Given the description of an element on the screen output the (x, y) to click on. 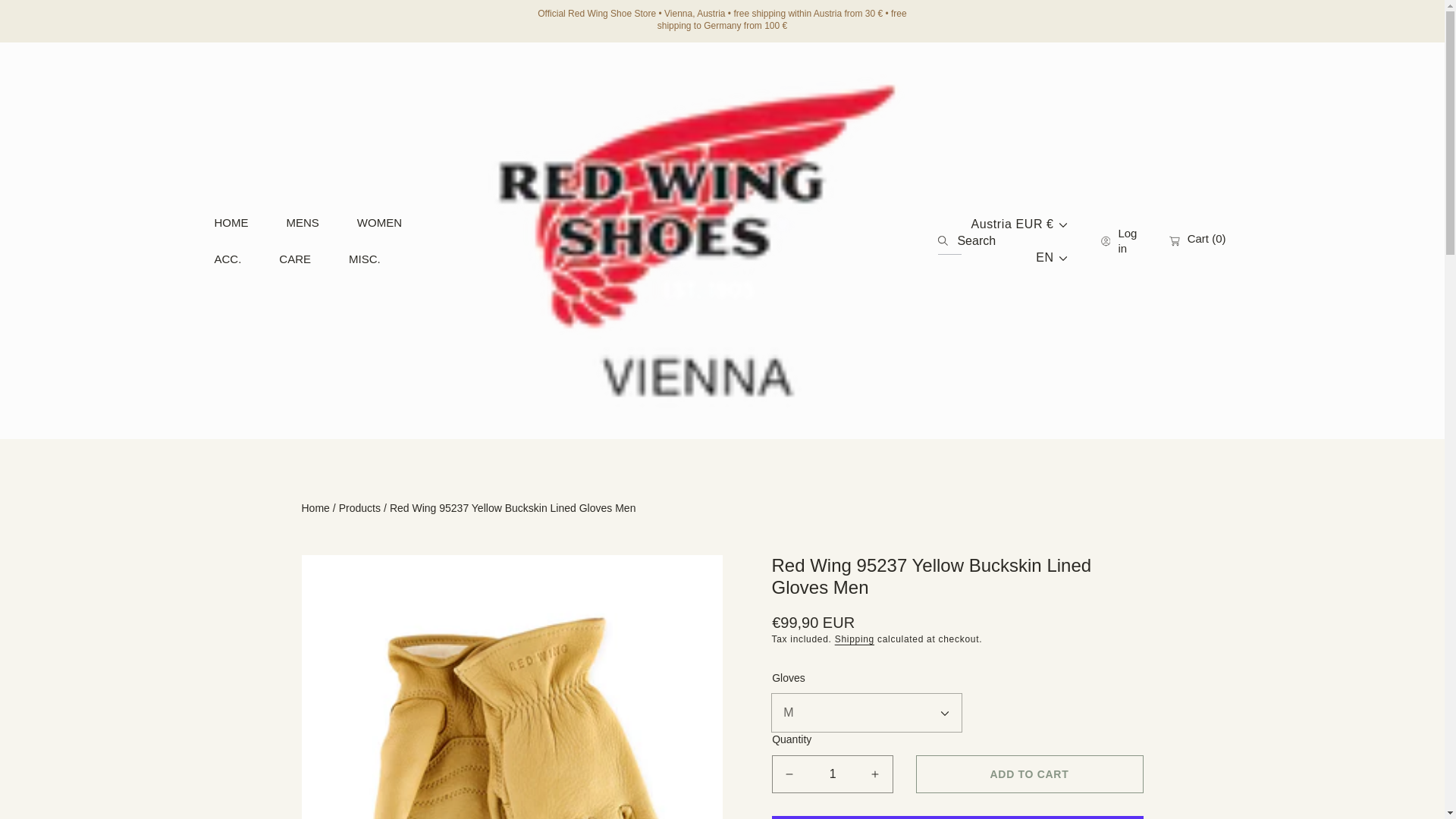
1 (831, 773)
SKIP TO CONTENT (75, 18)
